Given the description of an element on the screen output the (x, y) to click on. 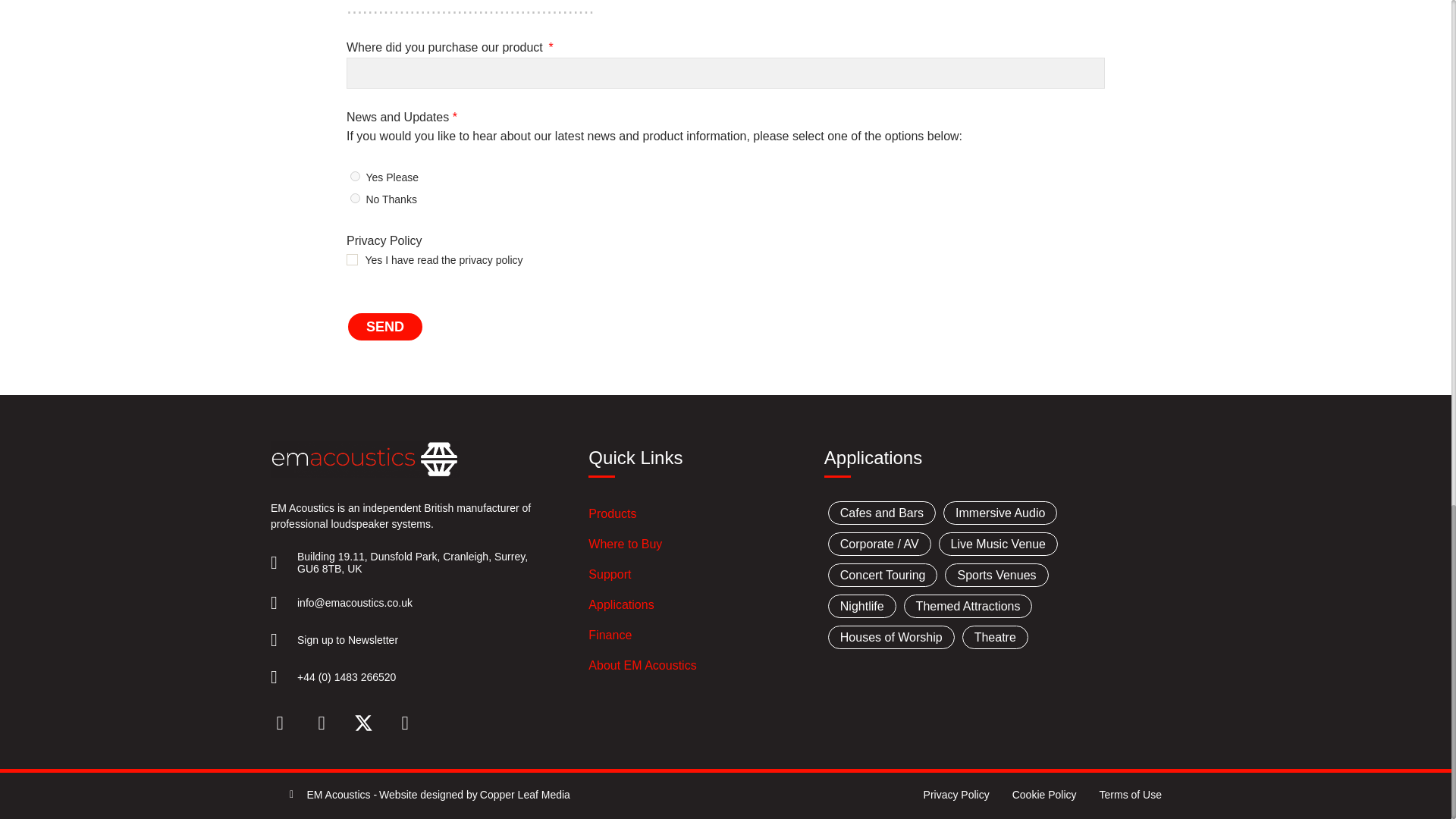
No Thanks (354, 198)
Yes I have read the privacy policy (352, 259)
Yes Please (354, 175)
